Given the description of an element on the screen output the (x, y) to click on. 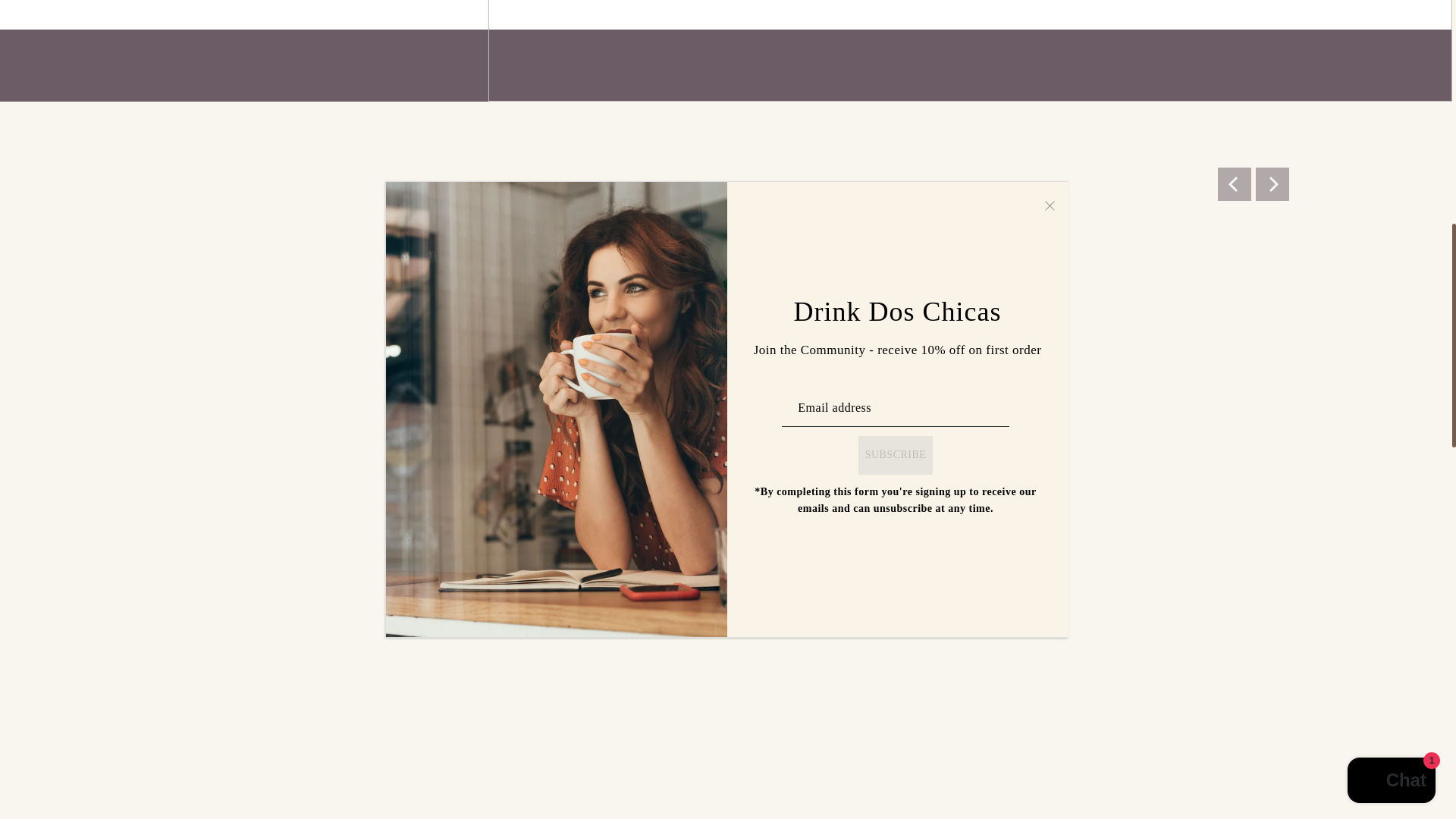
Featuring a very special coffee (725, 190)
